Given the description of an element on the screen output the (x, y) to click on. 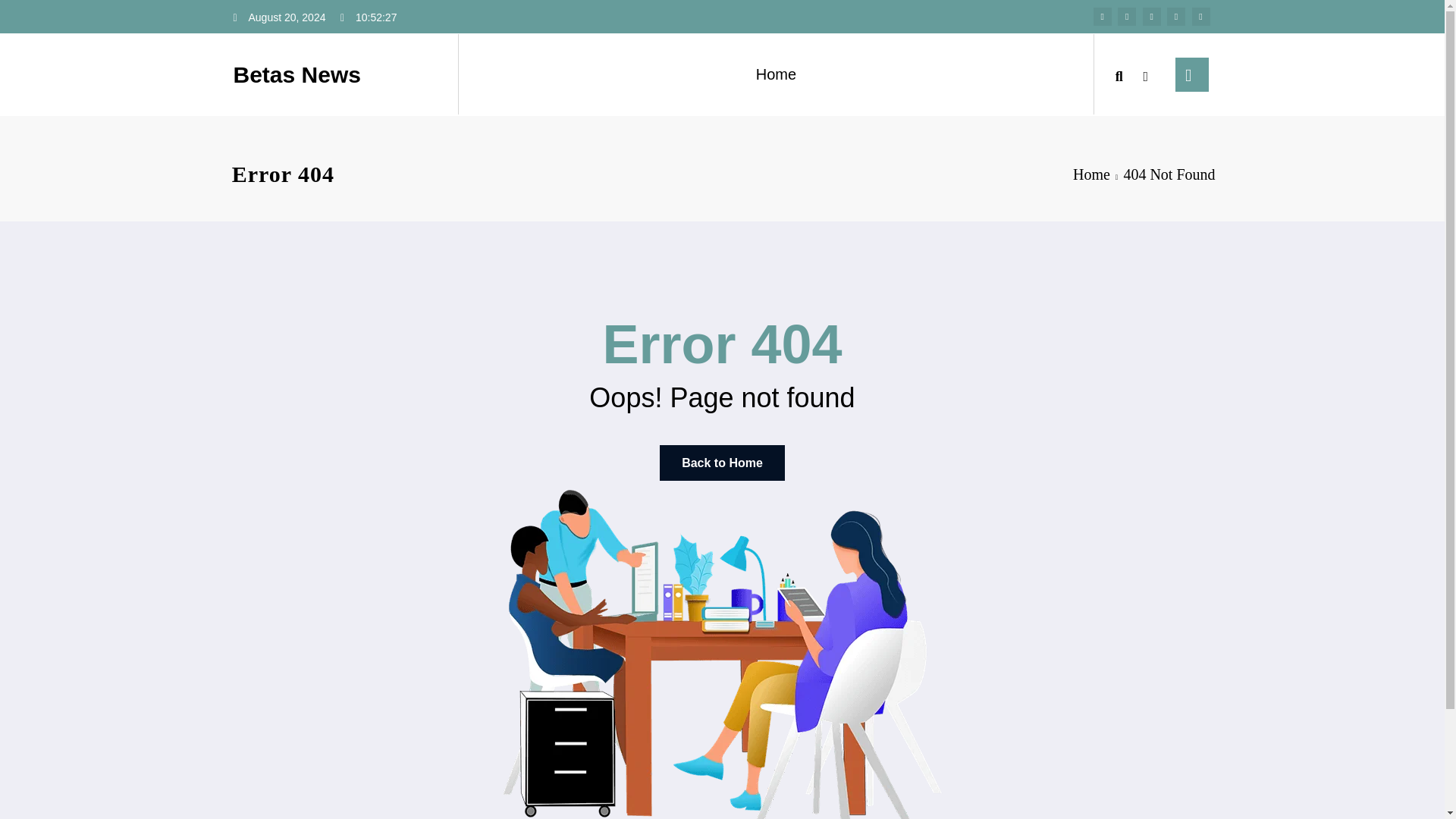
instagram (1176, 16)
Toggle Icon (1191, 74)
fa-brands fa-x-twitter (1126, 16)
Back to Home (721, 462)
facebook-f (1102, 16)
Home (1091, 174)
dribbble (1151, 16)
youtube (1200, 16)
Betas News (296, 74)
Home (775, 74)
